Given the description of an element on the screen output the (x, y) to click on. 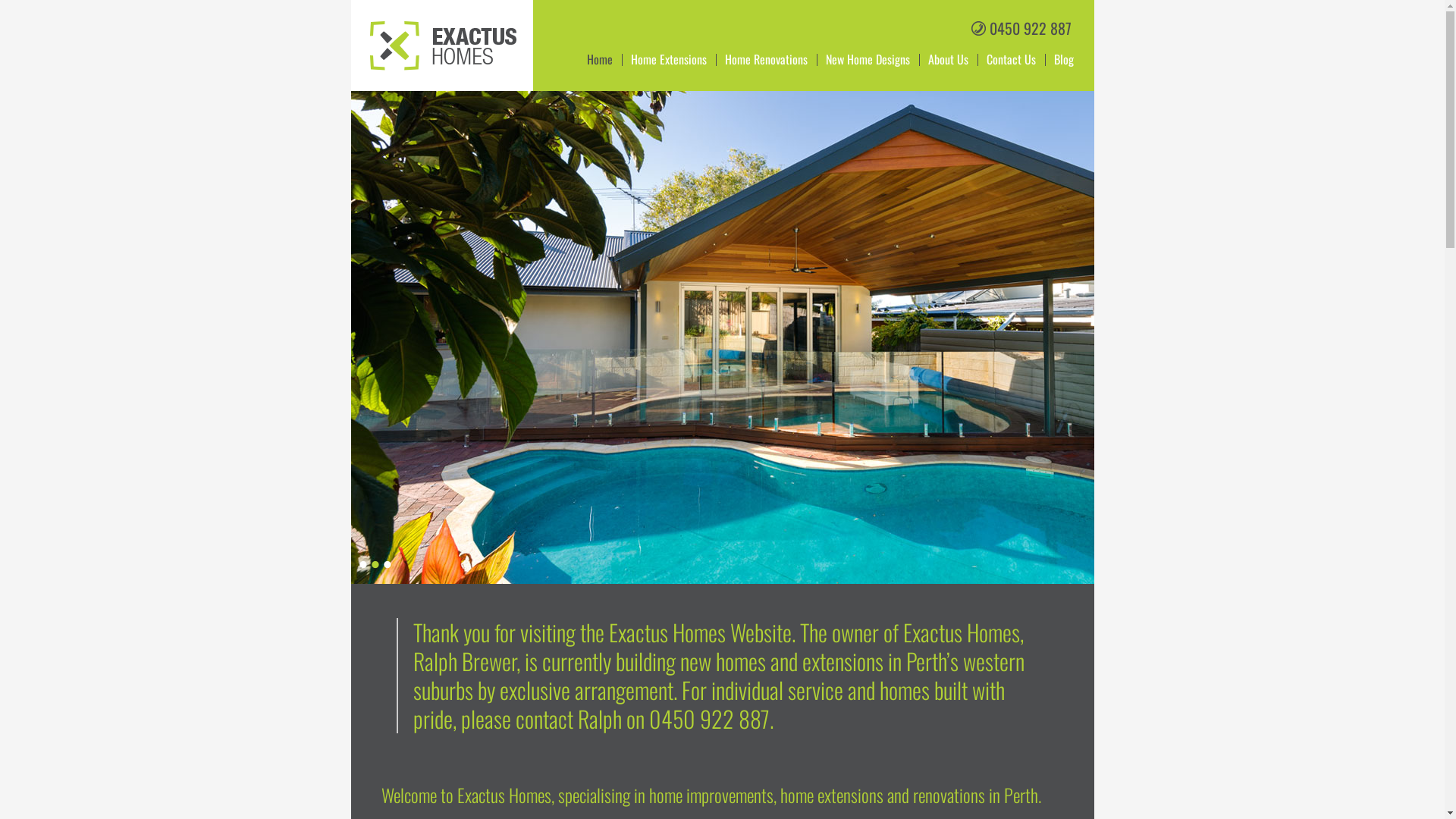
1 Element type: text (362, 564)
Exactus Homes Element type: hover (442, 45)
2 Element type: text (374, 564)
New Home Designs Element type: text (866, 59)
Home Renovations Element type: text (765, 59)
Home Extensions Element type: text (668, 59)
Exactus Homes Element type: hover (434, 68)
Contact Us Element type: text (1010, 59)
Home Element type: text (599, 59)
About Us Element type: text (948, 59)
3 Element type: text (386, 564)
Blog Element type: text (1063, 59)
